Given the description of an element on the screen output the (x, y) to click on. 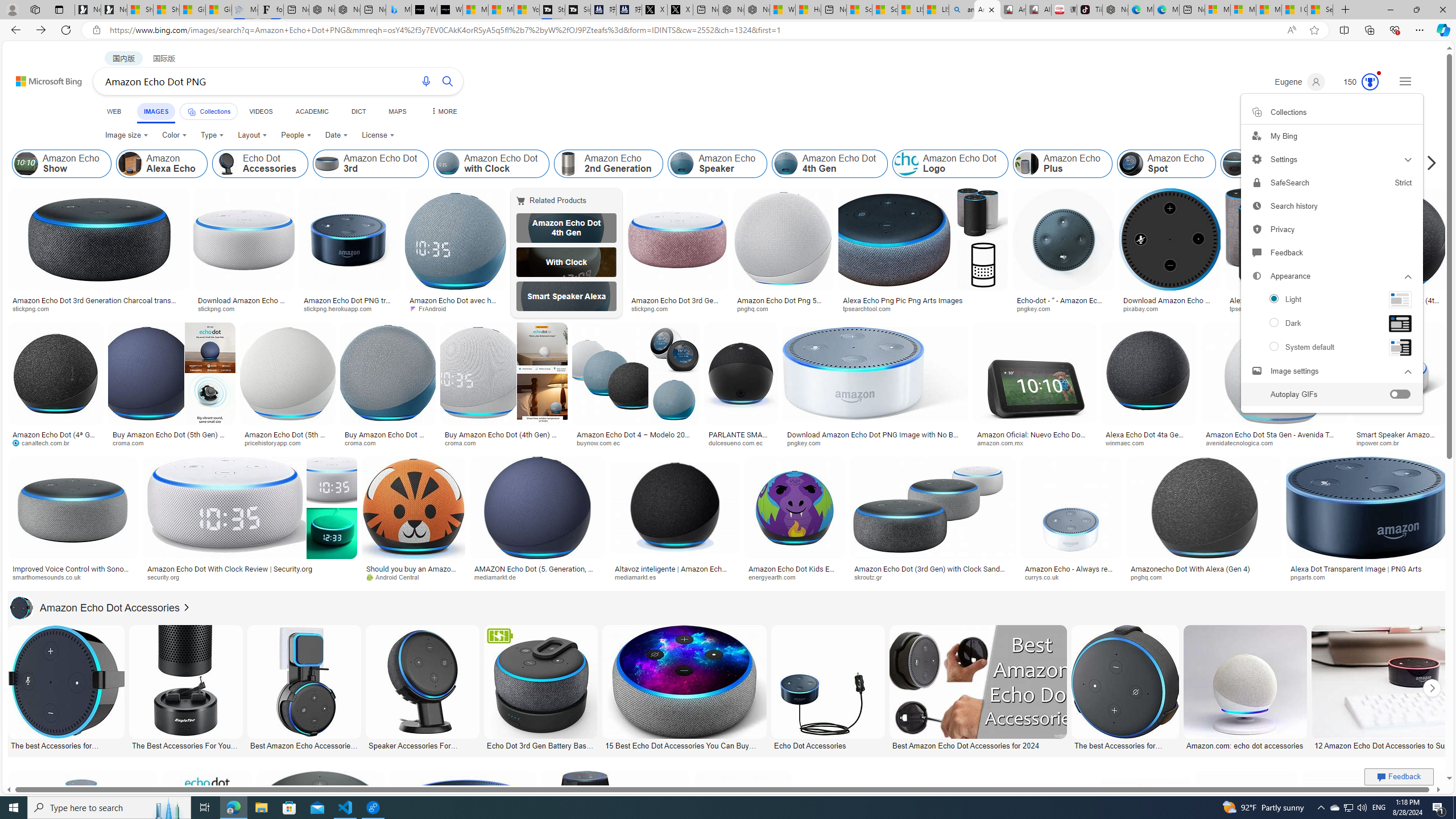
FrAndroid (455, 308)
Amazon Echo Spot (1165, 163)
Alexa Dot Transparent Image | PNG Arts (1366, 568)
stickpng.com (653, 308)
Amazon Echo Show (61, 163)
